Given the description of an element on the screen output the (x, y) to click on. 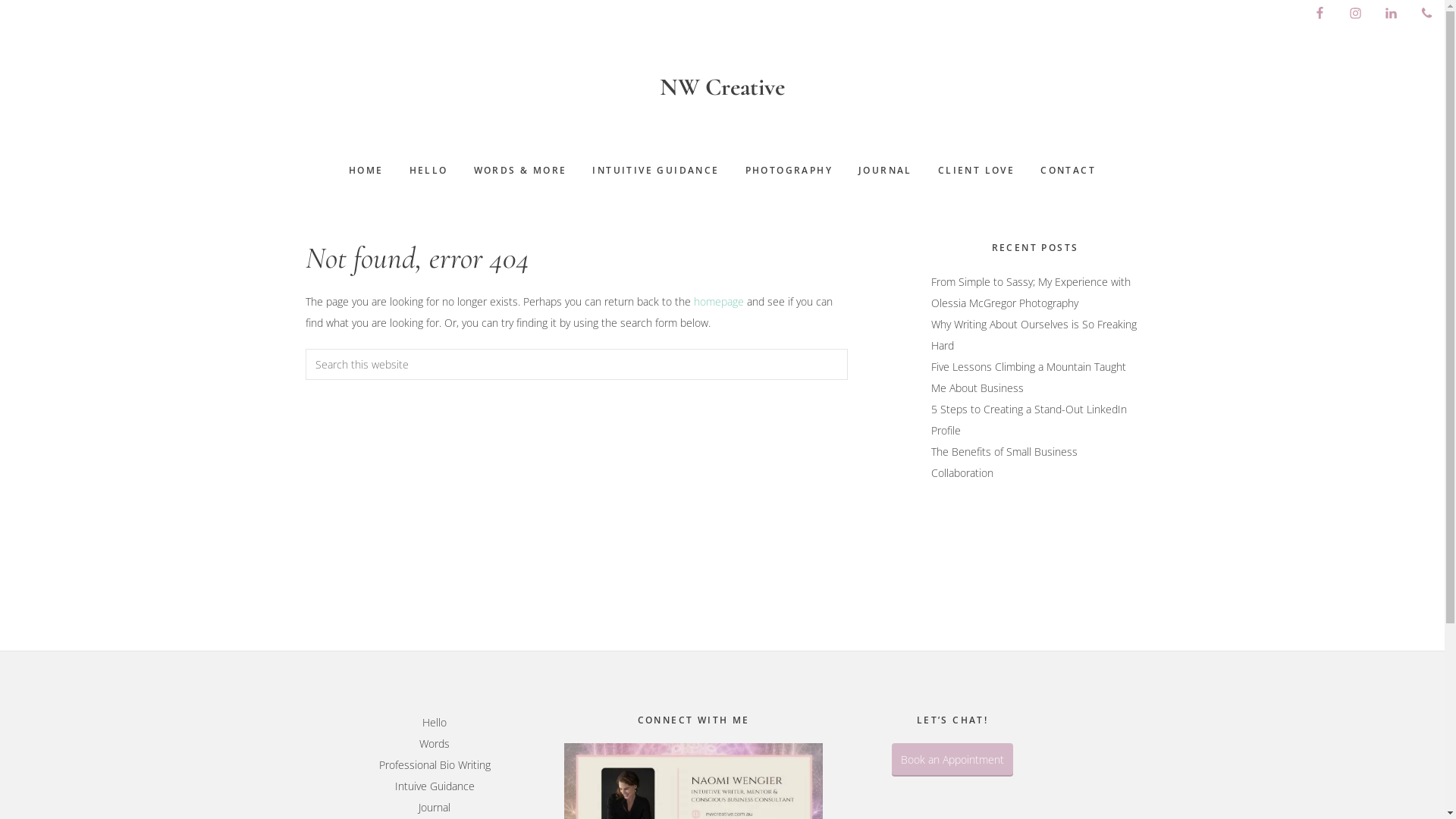
Facebook Element type: text (1319, 13)
LinkedIn Element type: text (1390, 13)
Professional Bio Writing Element type: text (434, 764)
Phone Element type: text (1426, 13)
Why Writing About Ourselves is So Freaking Hard Element type: text (1033, 334)
JOURNAL Element type: text (885, 170)
NW Creative Element type: text (721, 86)
5 Steps to Creating a Stand-Out LinkedIn Profile Element type: text (1028, 419)
INTUITIVE GUIDANCE Element type: text (655, 170)
Intuive Guidance Element type: text (434, 785)
Instagram Element type: text (1355, 13)
CLIENT LOVE Element type: text (976, 170)
Book an Appointment Element type: text (952, 759)
homepage Element type: text (718, 301)
HOME Element type: text (366, 170)
Five Lessons Climbing a Mountain Taught Me About Business Element type: text (1028, 377)
Search Element type: text (846, 348)
HELLO Element type: text (428, 170)
WORDS & MORE Element type: text (520, 170)
The Benefits of Small Business Collaboration Element type: text (1004, 462)
Skip to main content Element type: text (0, 0)
PHOTOGRAPHY Element type: text (789, 170)
Words Element type: text (434, 743)
Hello Element type: text (434, 722)
Journal Element type: text (434, 807)
CONTACT Element type: text (1068, 170)
